Given the description of an element on the screen output the (x, y) to click on. 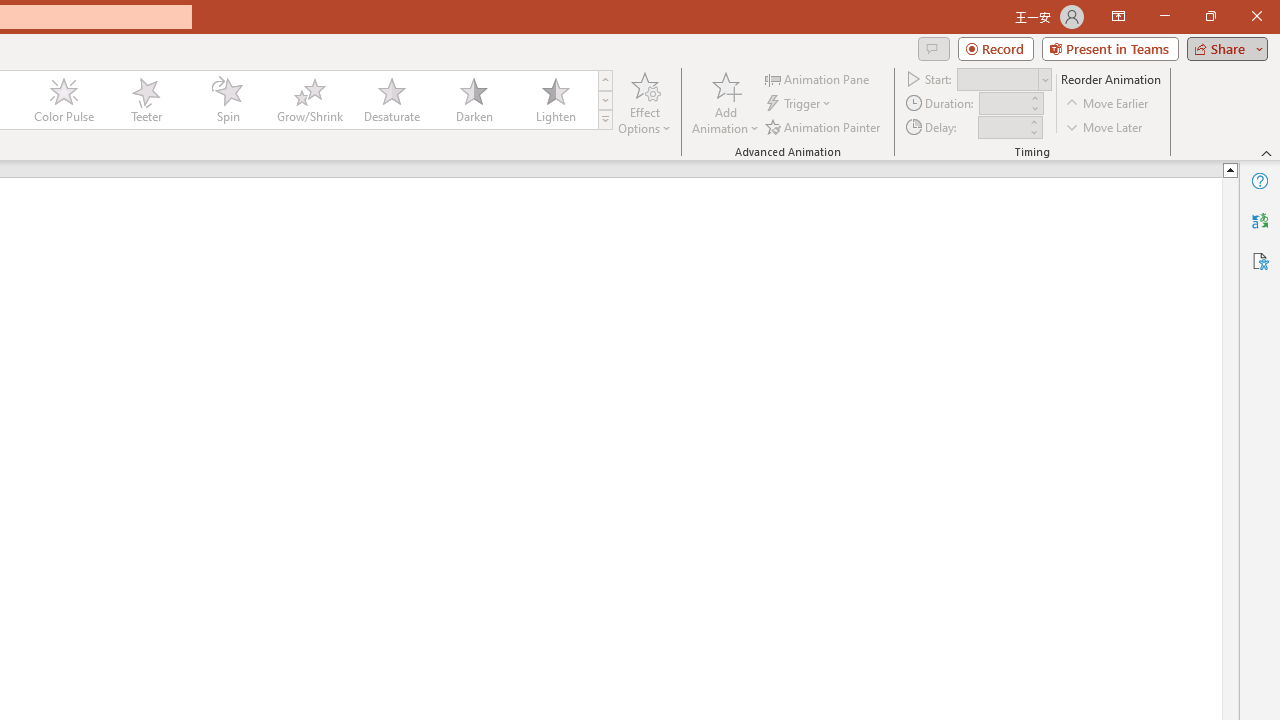
Row Down (605, 100)
Class: NetUIImage (605, 119)
Start (1004, 78)
Share (1223, 48)
Teeter (145, 100)
More (1033, 121)
Lighten (555, 100)
Move Earlier (1107, 103)
Close (1256, 16)
Less (1033, 132)
Ribbon Display Options (1118, 16)
Help (1260, 180)
Animation Styles (605, 120)
Record (995, 48)
Comments (933, 48)
